Given the description of an element on the screen output the (x, y) to click on. 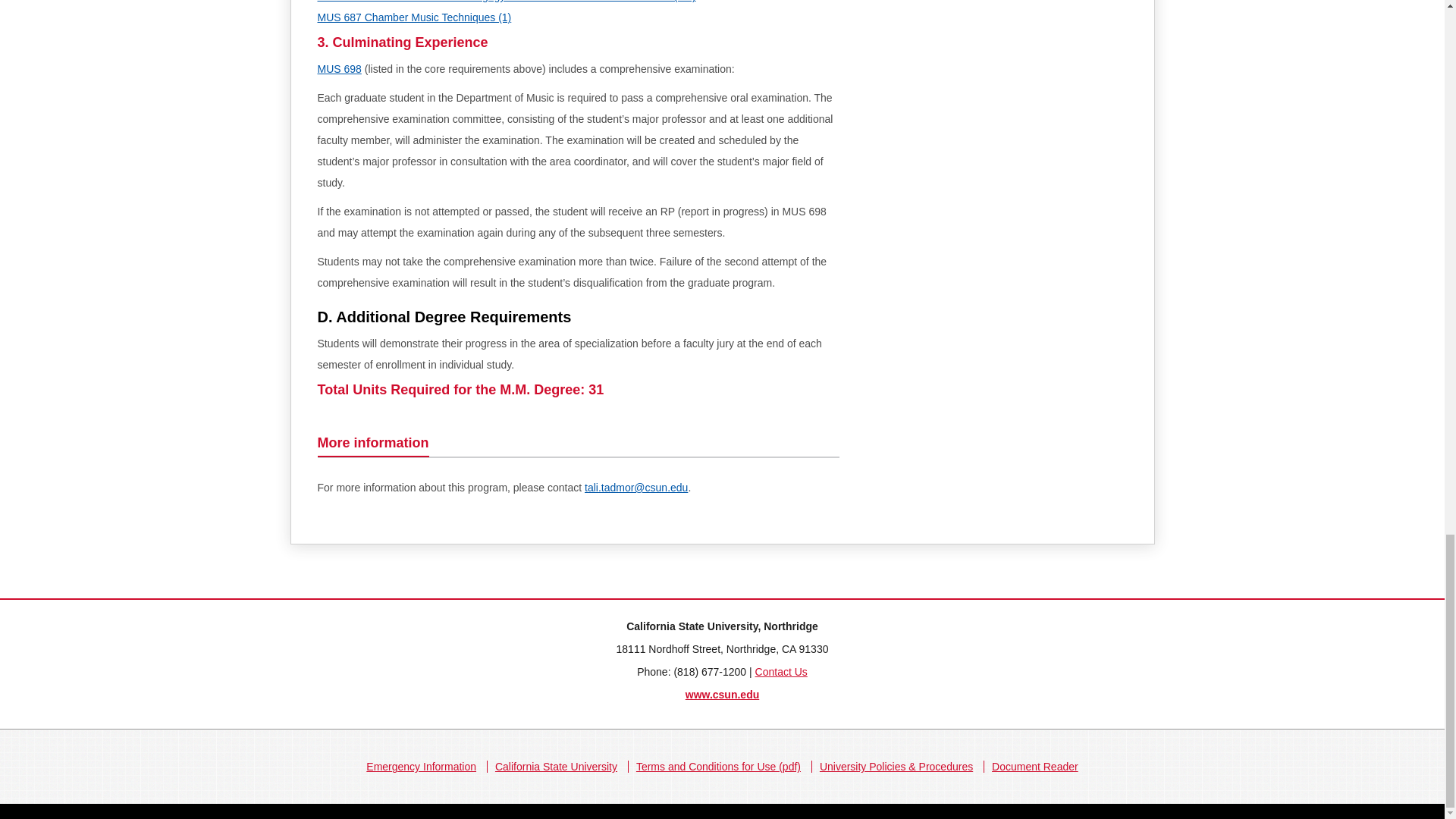
Email questions about the program (636, 487)
Download a pdf reader here (1035, 766)
